Given the description of an element on the screen output the (x, y) to click on. 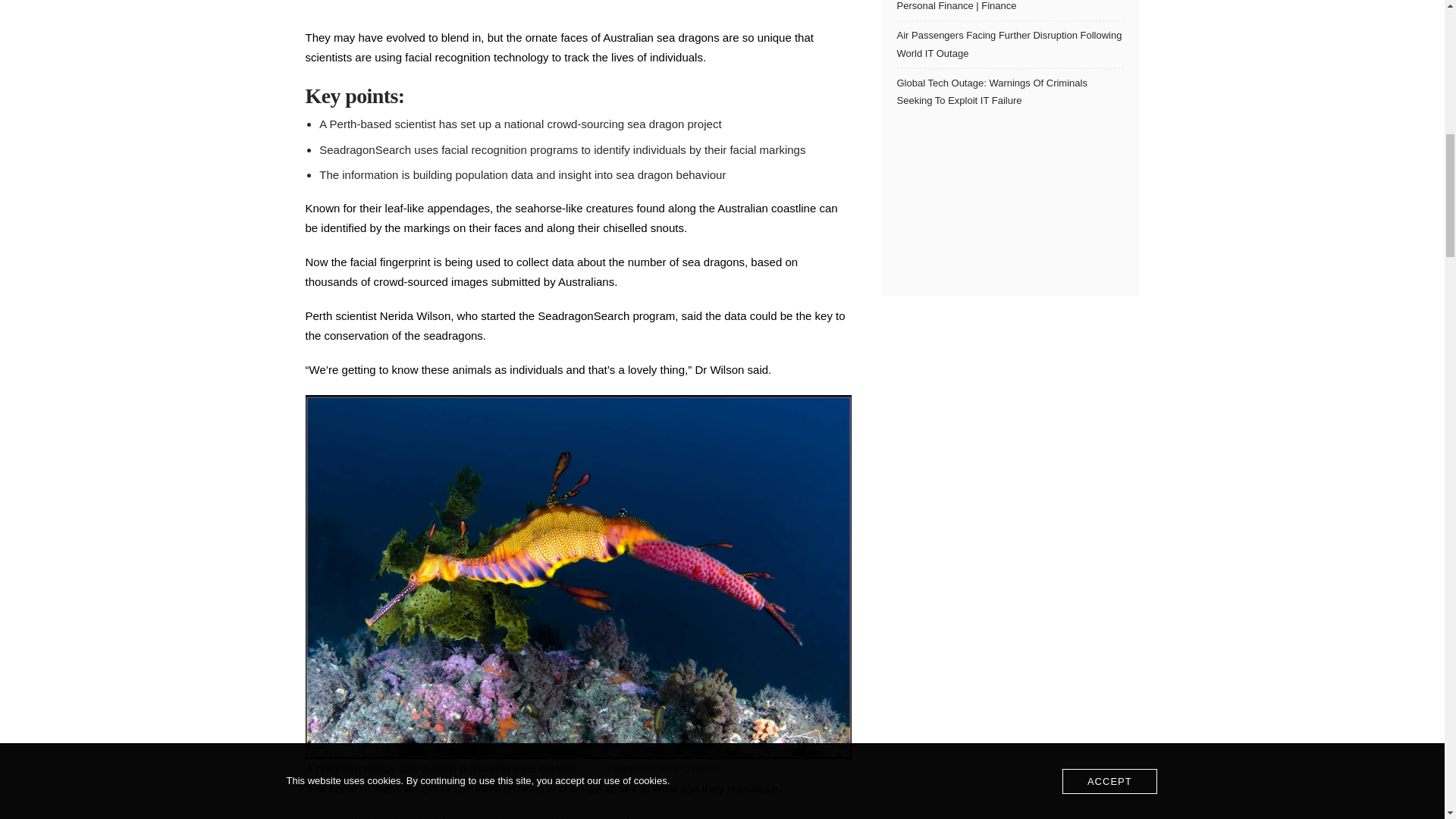
Advertisement (577, 3)
